Given the description of an element on the screen output the (x, y) to click on. 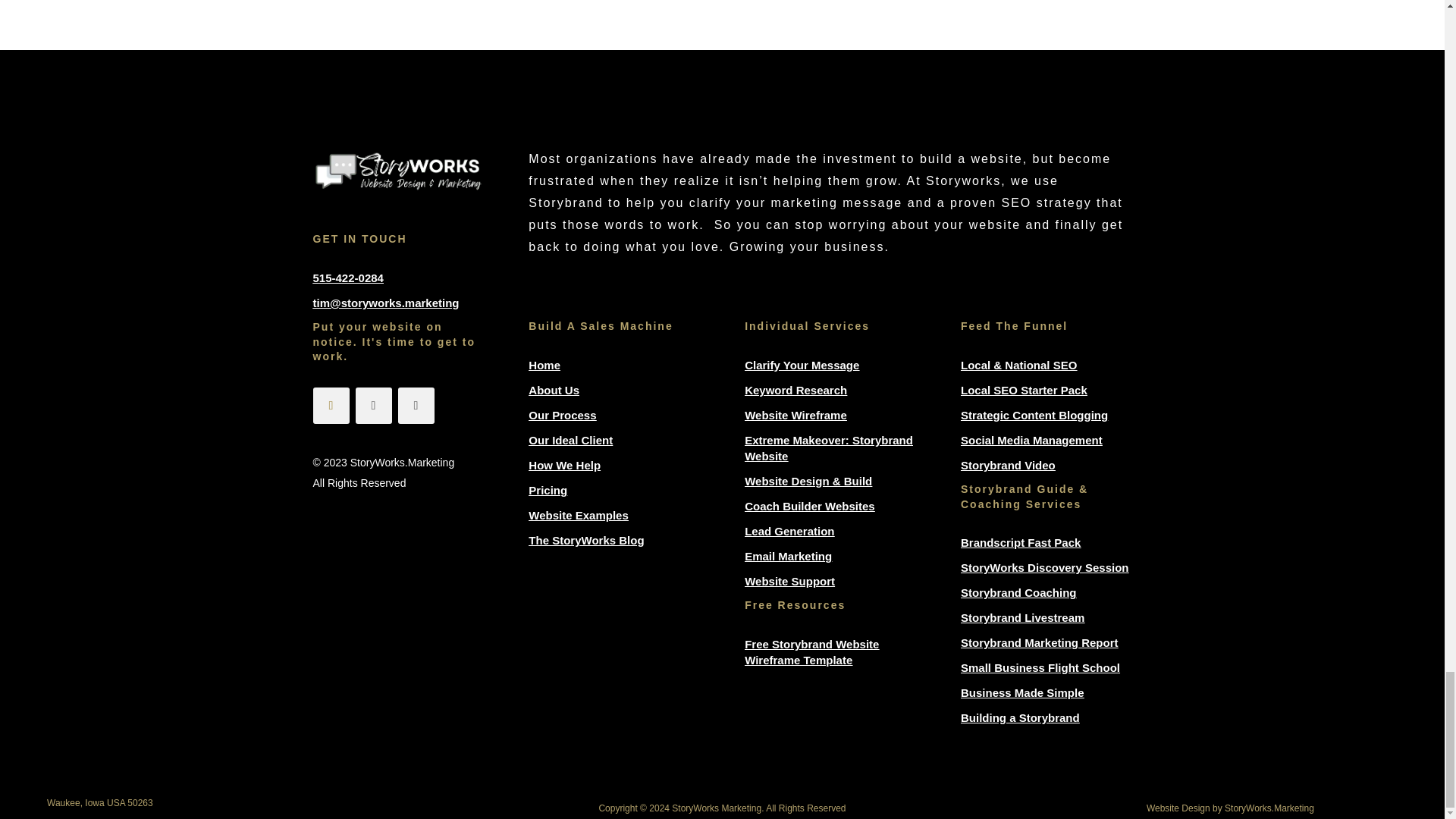
Follow on Facebook (331, 405)
Follow on Instagram (373, 405)
